Given the description of an element on the screen output the (x, y) to click on. 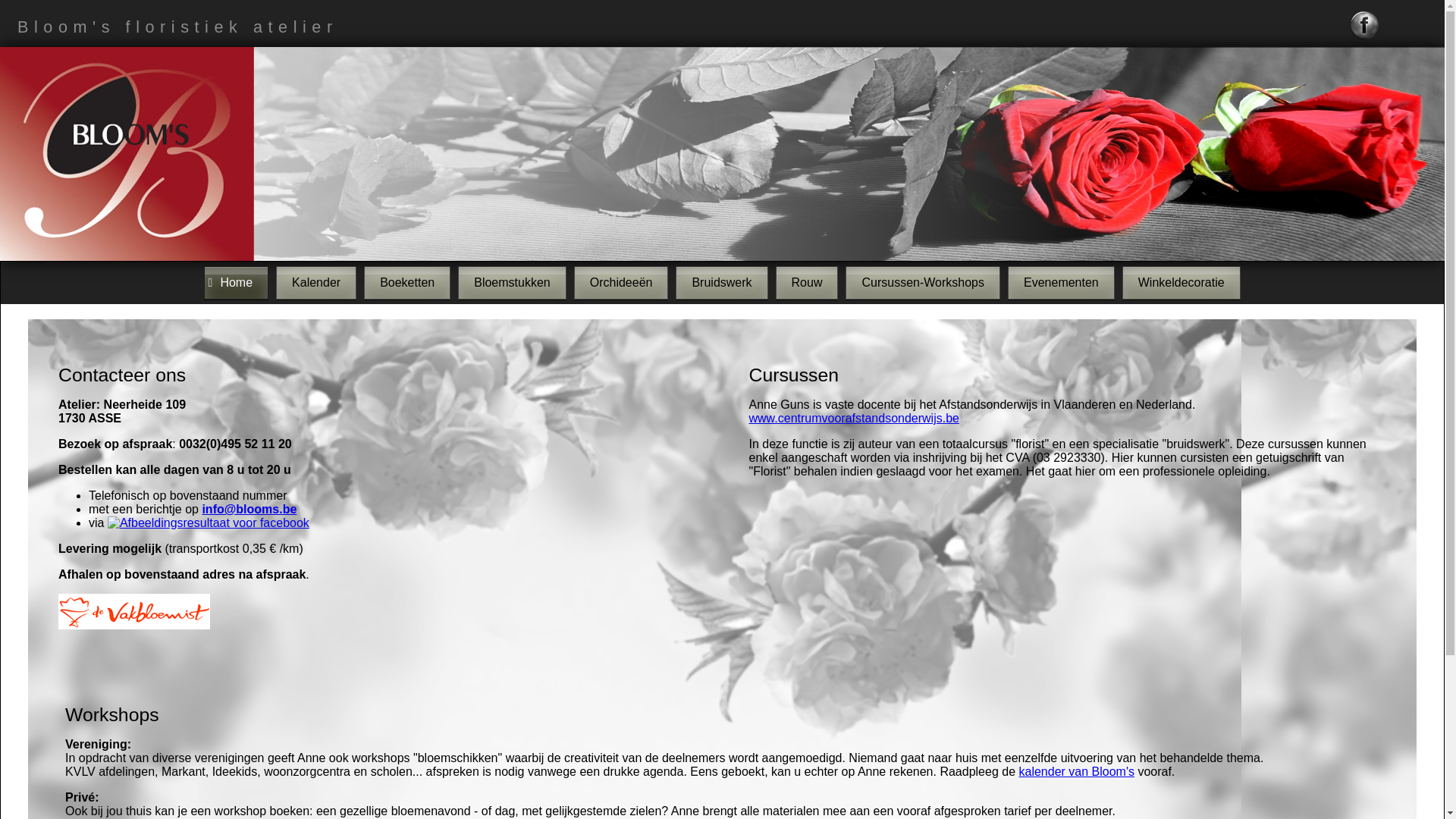
Kalender Element type: text (316, 282)
Bruidswerk Element type: text (721, 282)
www.centrumvoorafstandsonderwijs.be Element type: text (854, 417)
Winkeldecoratie Element type: text (1181, 282)
Evenementen Element type: text (1060, 282)
Cursussen-Workshops Element type: text (922, 282)
Boeketten Element type: text (407, 282)
Home Element type: text (235, 282)
De Vakbloemist Element type: hover (134, 621)
kalender van Bloom's Element type: text (1075, 771)
Rouw Element type: text (806, 282)
info@blooms.be Element type: text (248, 508)
Bloemstukken Element type: text (512, 282)
